Given the description of an element on the screen output the (x, y) to click on. 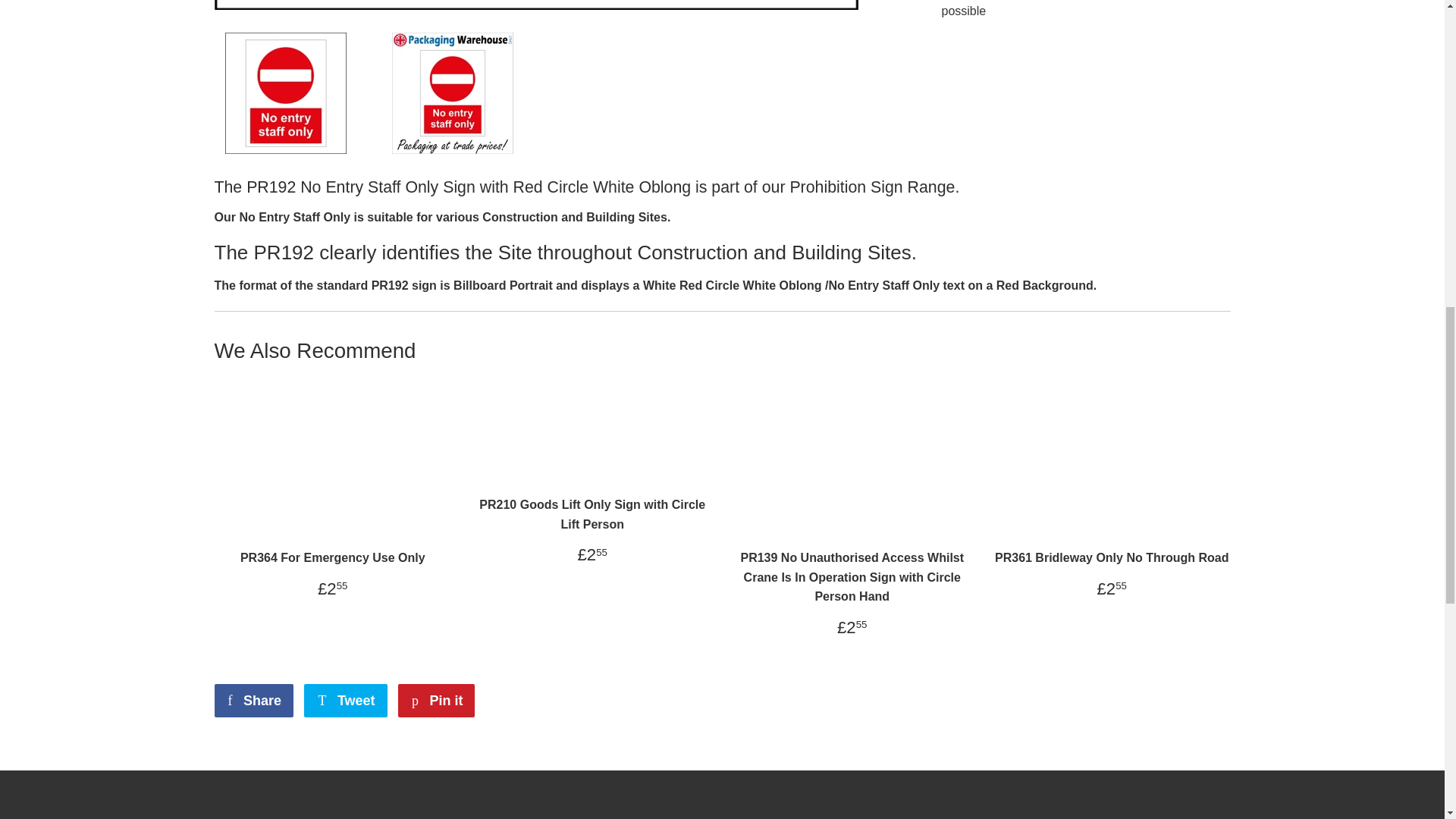
Tweet on Twitter (345, 700)
Share on Facebook (253, 700)
Pin on Pinterest (435, 700)
